Given the description of an element on the screen output the (x, y) to click on. 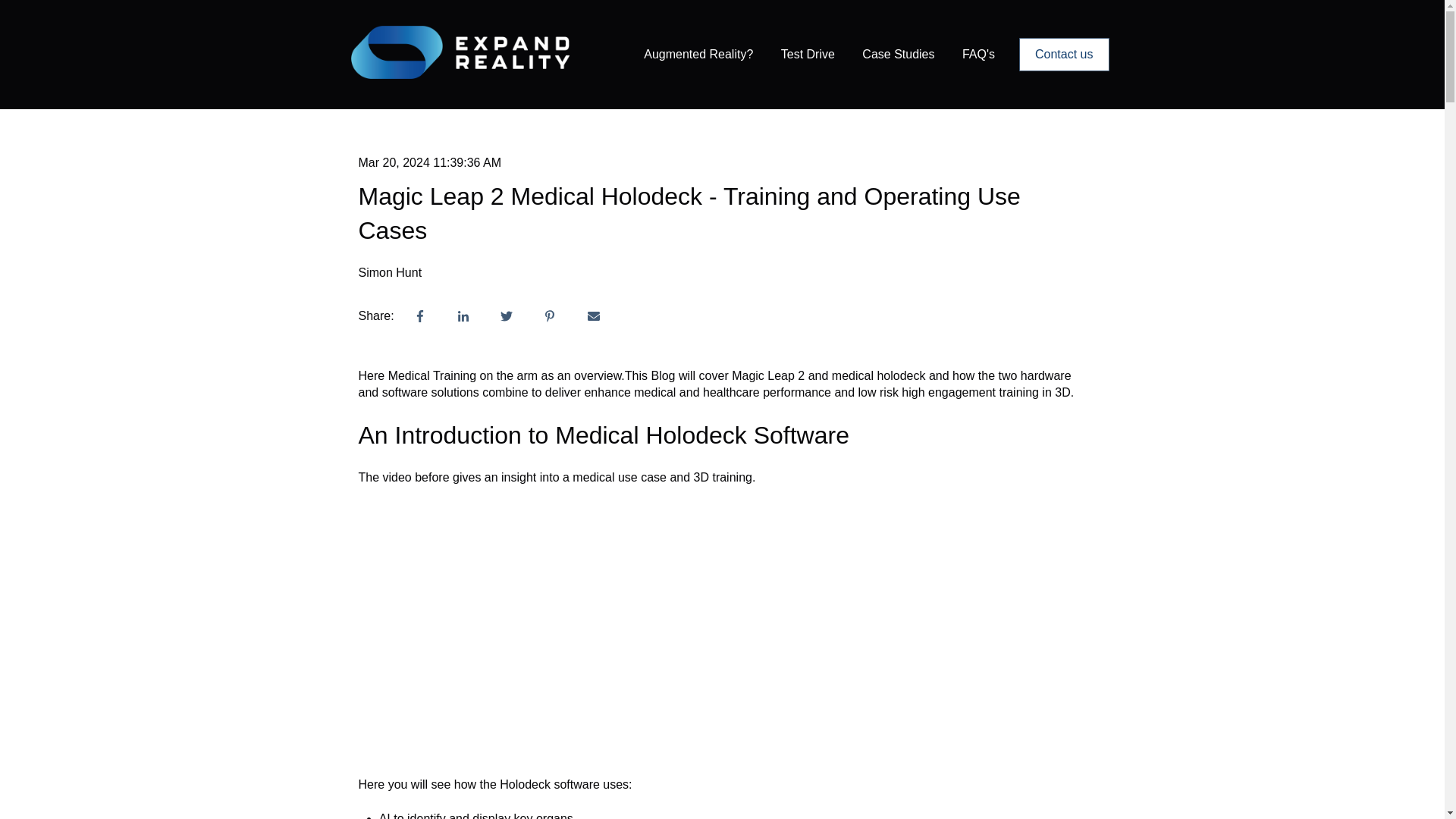
FAQ's (978, 54)
Simon Hunt (390, 272)
Contact us (1063, 54)
YouTube video player (721, 622)
Case Studies (897, 54)
Test Drive (807, 54)
Augmented Reality? (697, 54)
